Given the description of an element on the screen output the (x, y) to click on. 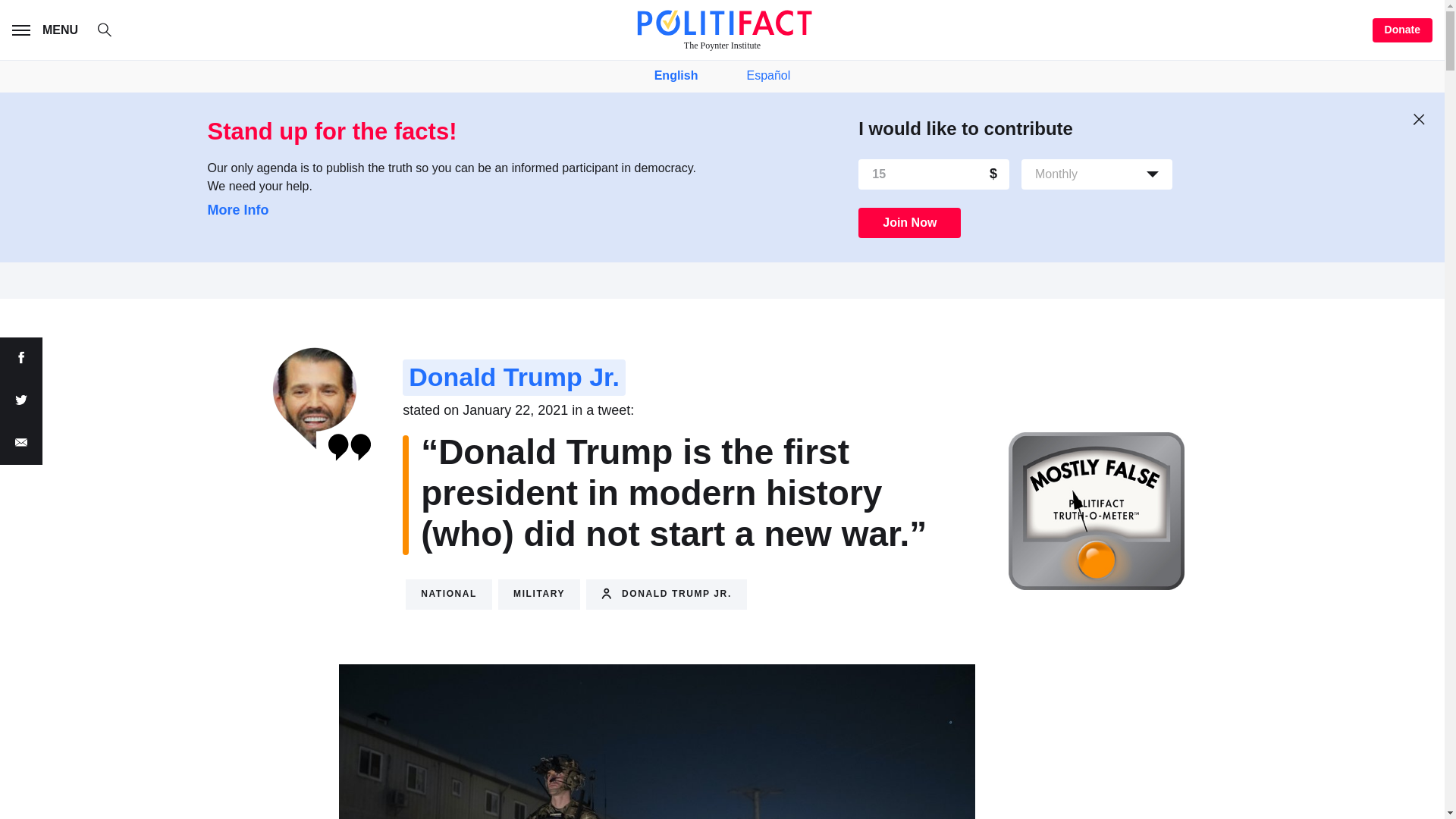
The Poynter Institute (721, 29)
Open search form (104, 30)
MENU (47, 30)
Donald Trump Jr. (666, 594)
Military (538, 594)
Search (111, 31)
National (449, 594)
Donald Trump Jr. (514, 377)
Donate (1402, 30)
